Given the description of an element on the screen output the (x, y) to click on. 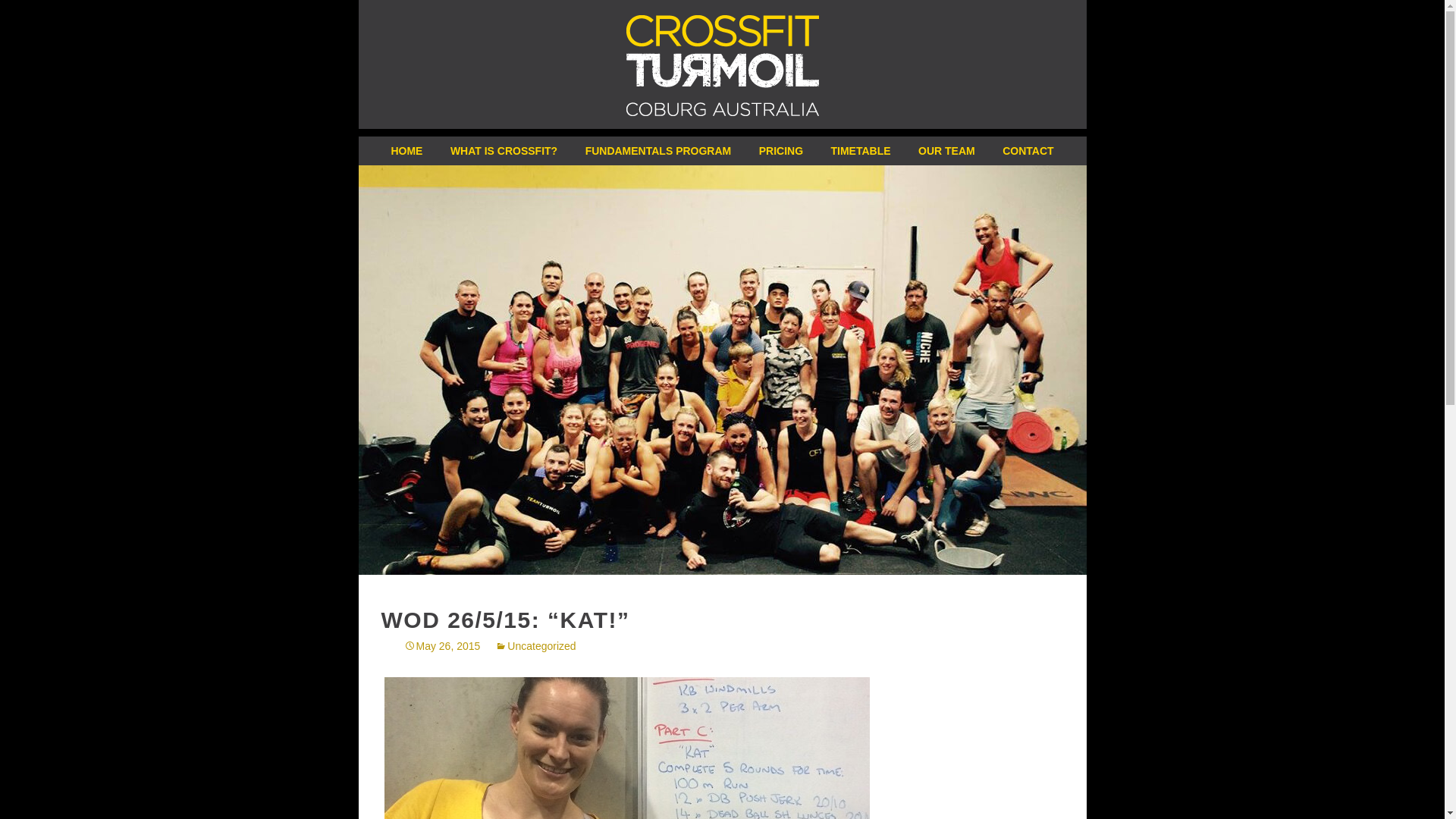
OUR TEAM Element type: text (946, 150)
Skip to content Element type: text (397, 145)
FUNDAMENTALS PROGRAM Element type: text (658, 150)
PRICING Element type: text (780, 150)
CROSSFIT TURMOIL Element type: text (721, 64)
HOME Element type: text (406, 150)
CONTACT Element type: text (1027, 150)
May 26, 2015 Element type: text (441, 646)
TIMETABLE Element type: text (861, 150)
WHAT IS CROSSFIT? Element type: text (503, 150)
Uncategorized Element type: text (535, 646)
